Given the description of an element on the screen output the (x, y) to click on. 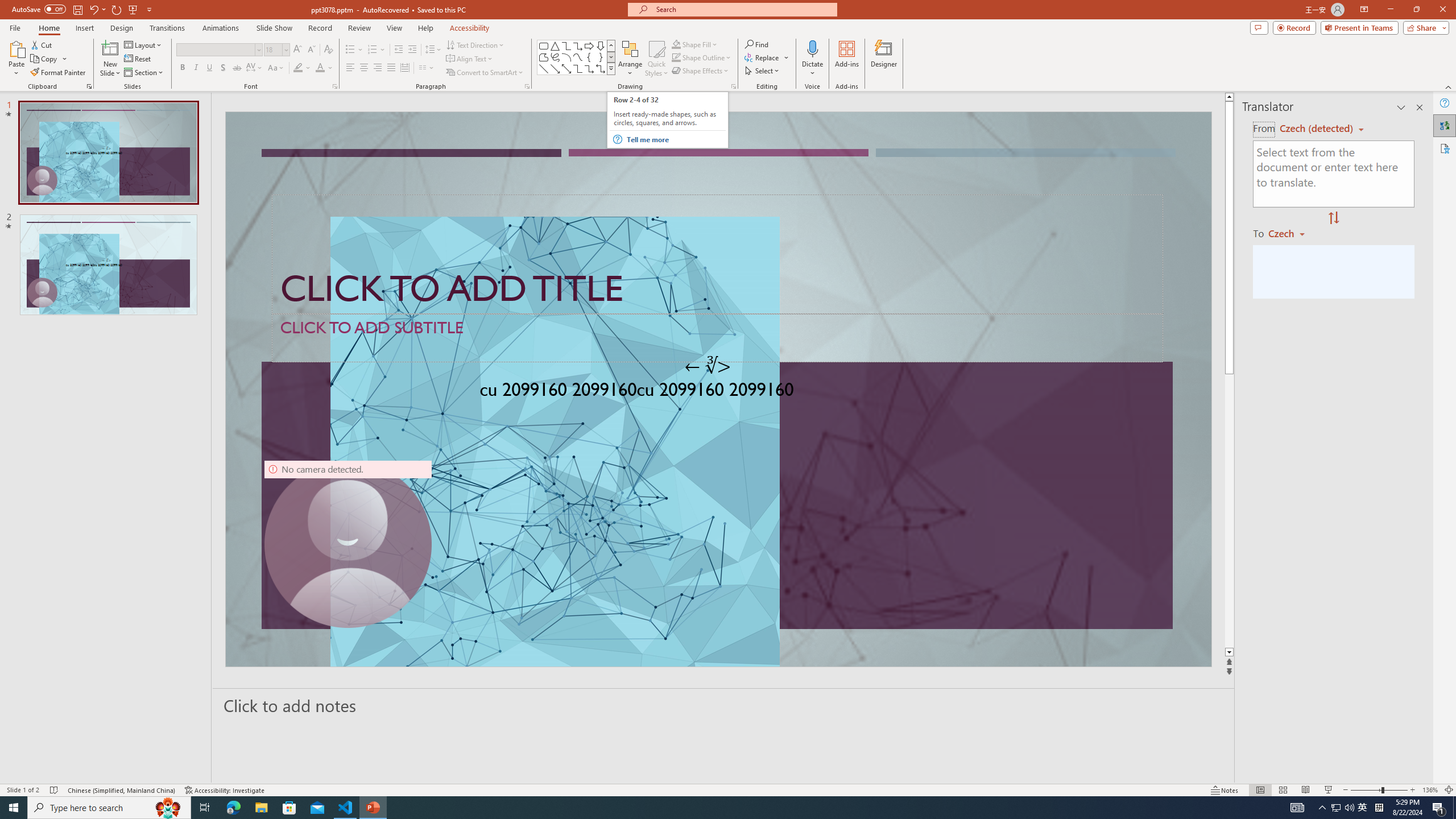
Center (363, 67)
Paragraph... (526, 85)
Underline (209, 67)
Office Clipboard... (88, 85)
Shape Fill Dark Green, Accent 2 (675, 44)
Font Color Red (320, 67)
Camera 9, No camera detected. (347, 543)
